Given the description of an element on the screen output the (x, y) to click on. 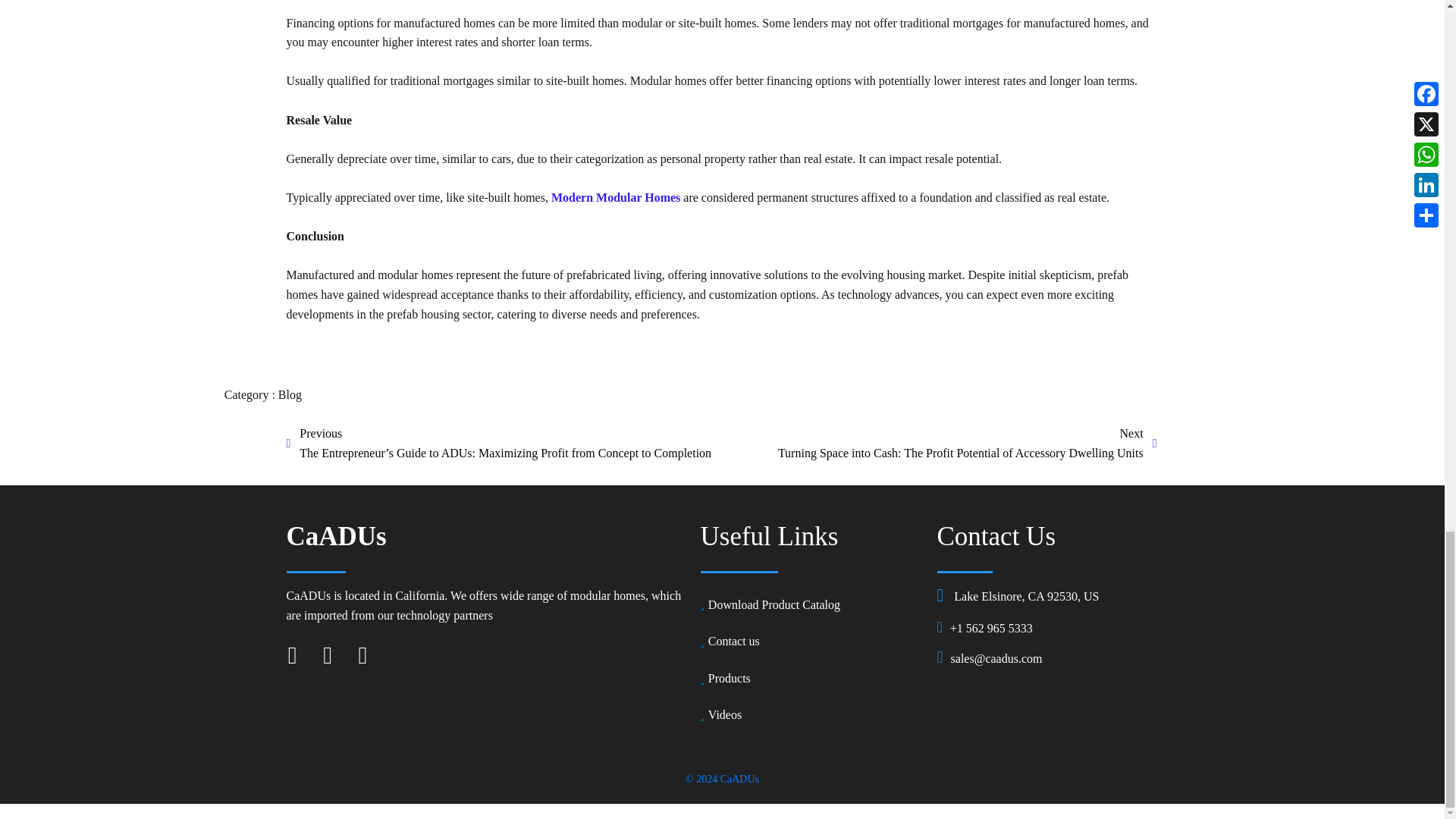
CaADUs (485, 536)
Download Product Catalog (810, 604)
Products (810, 678)
Contact us (810, 641)
Modern Modular Homes (615, 196)
Blog (289, 394)
Videos (810, 714)
CaADUs (739, 778)
